Given the description of an element on the screen output the (x, y) to click on. 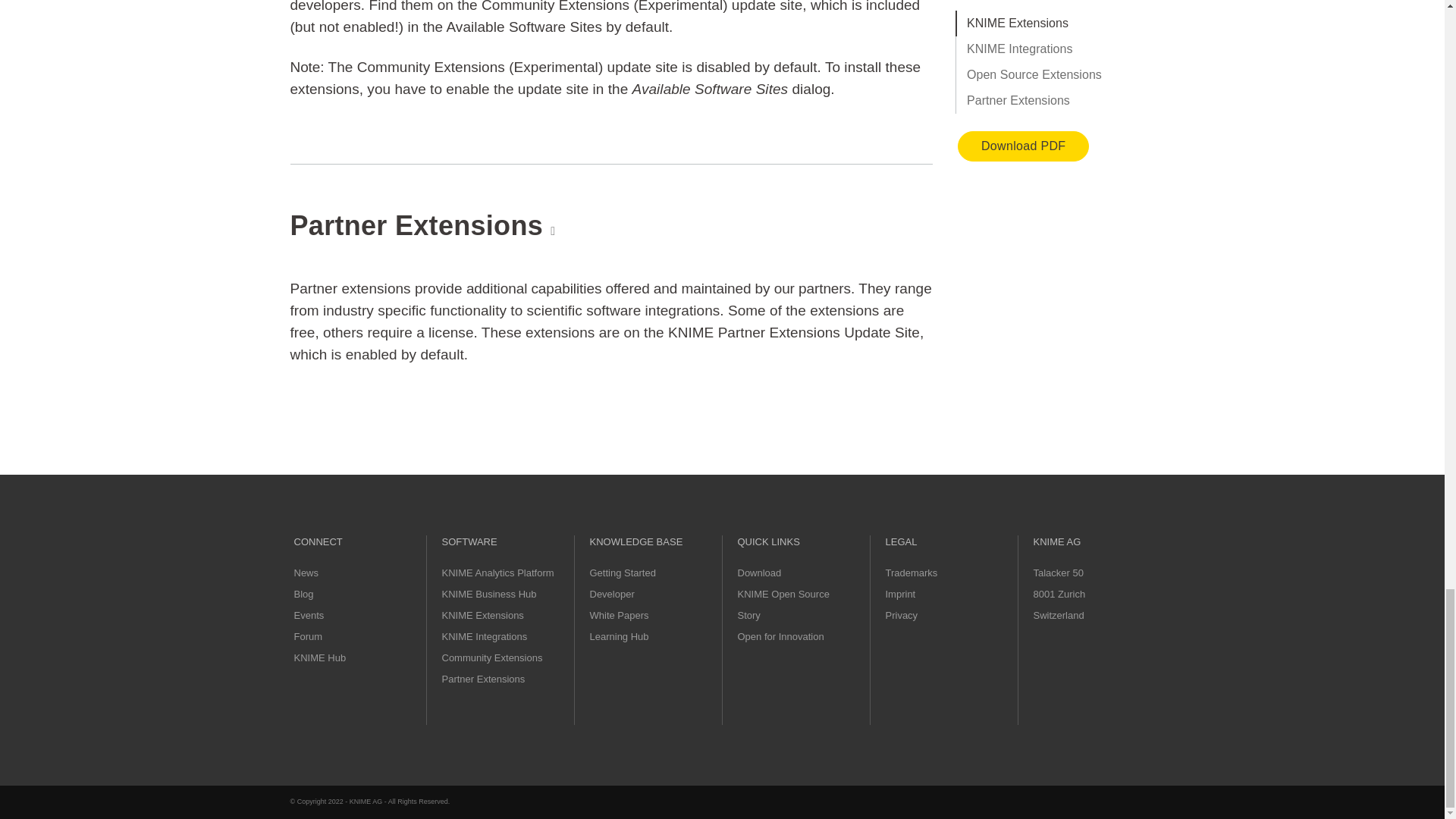
Getting Started (622, 572)
News (306, 572)
Community Extensions (491, 657)
Partner Extensions (482, 678)
Developer (611, 593)
Forum (308, 636)
KNIME Open Source Story (782, 604)
Download (758, 572)
Blog (304, 593)
Events (309, 614)
